Given the description of an element on the screen output the (x, y) to click on. 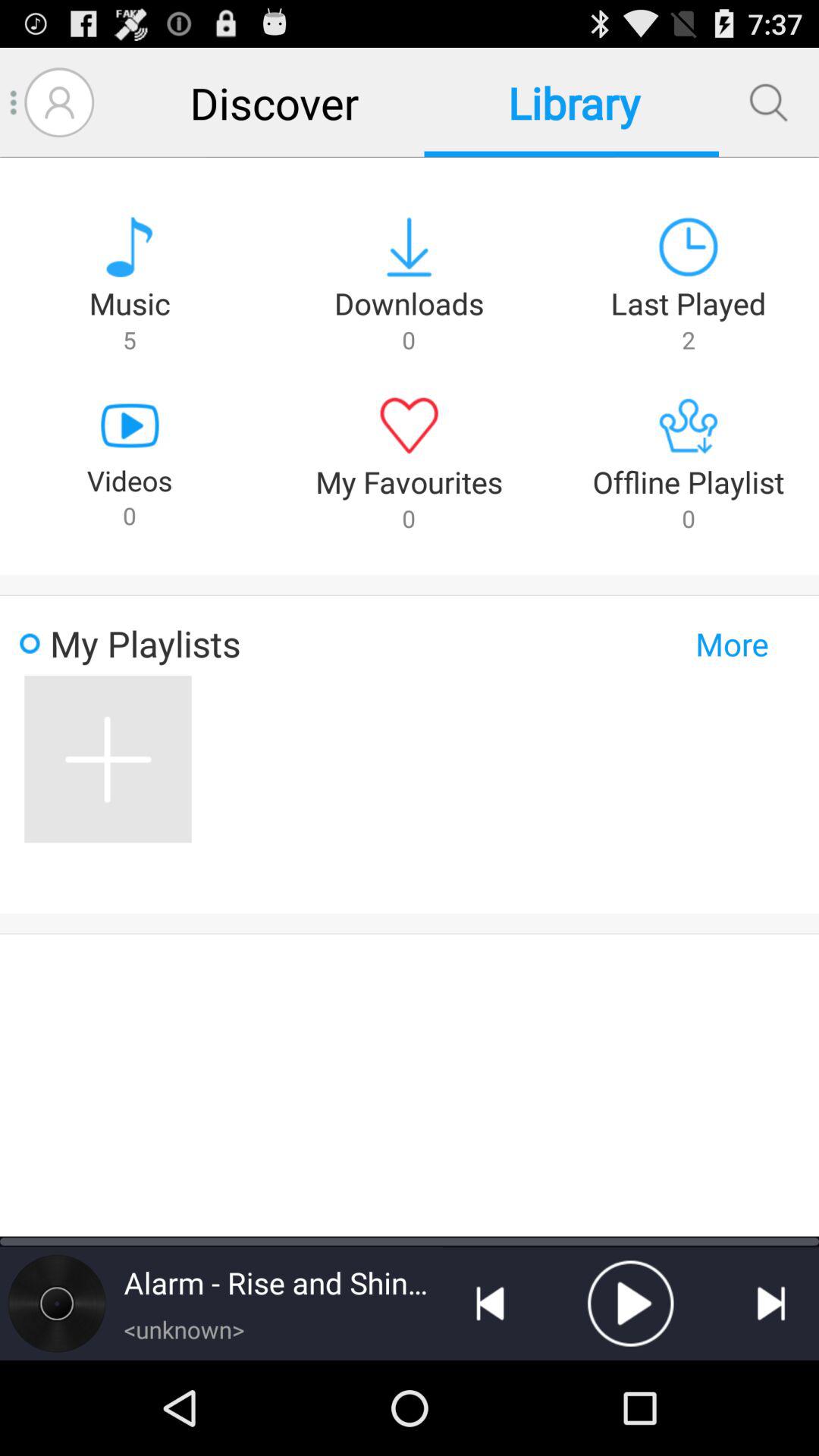
choose the item next to the discover item (59, 102)
